Given the description of an element on the screen output the (x, y) to click on. 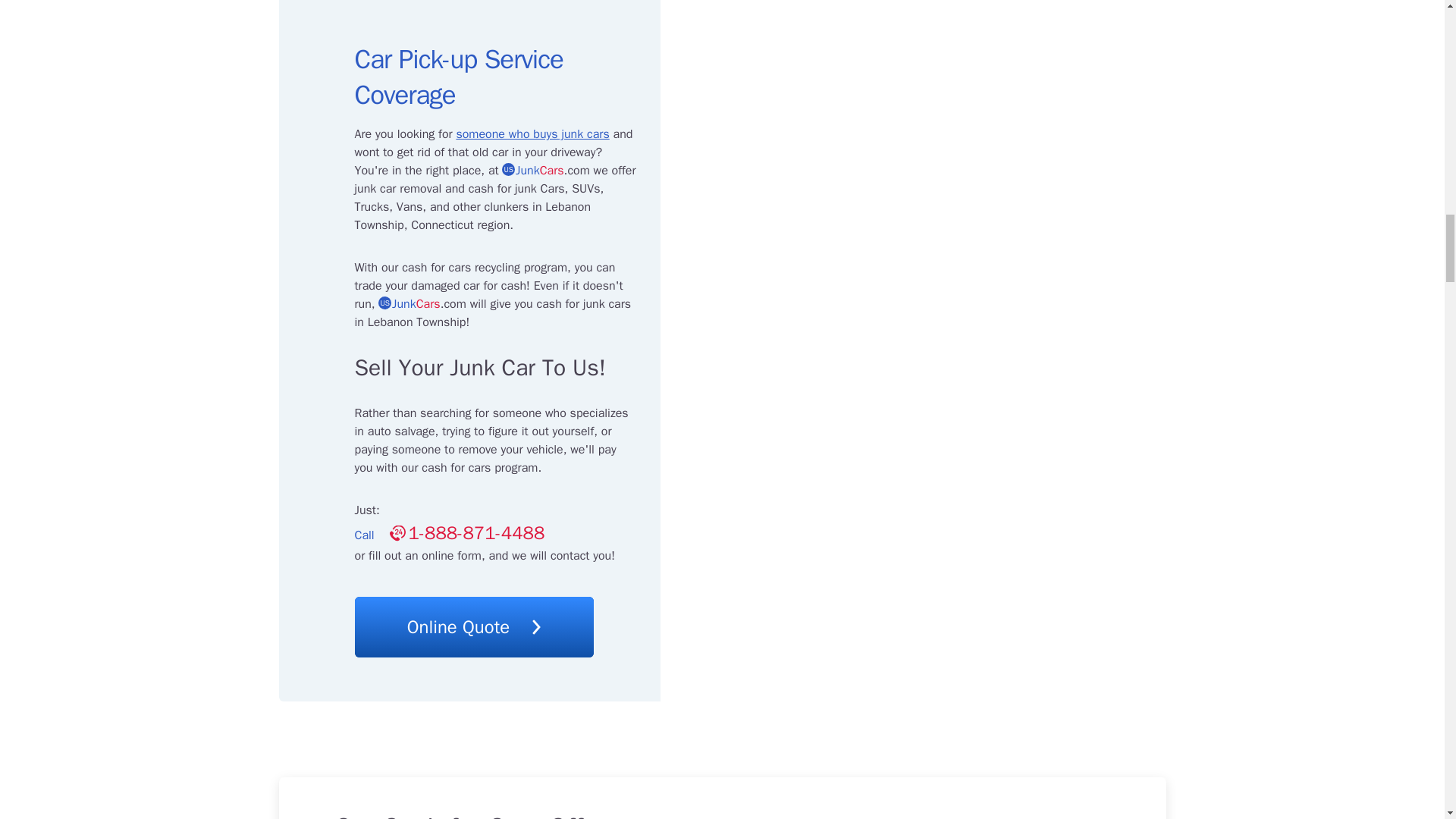
1-888-871-4488 (467, 533)
Online Quote (474, 627)
someone who buys junk cars (531, 134)
